Given the description of an element on the screen output the (x, y) to click on. 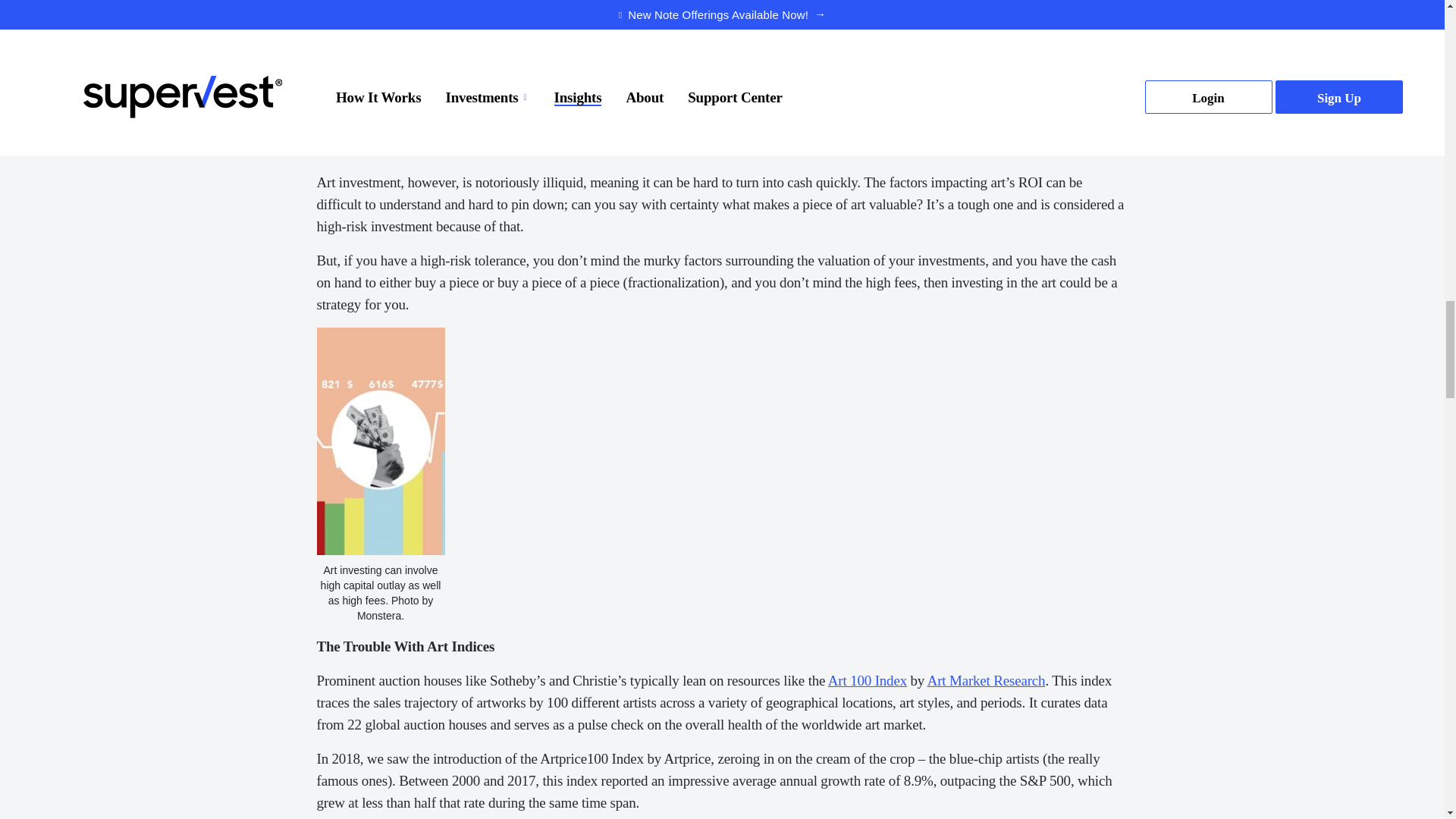
Art 100 Index (867, 680)
Art Market Research (986, 680)
highest inflation rates in 40 years. (847, 148)
